Given the description of an element on the screen output the (x, y) to click on. 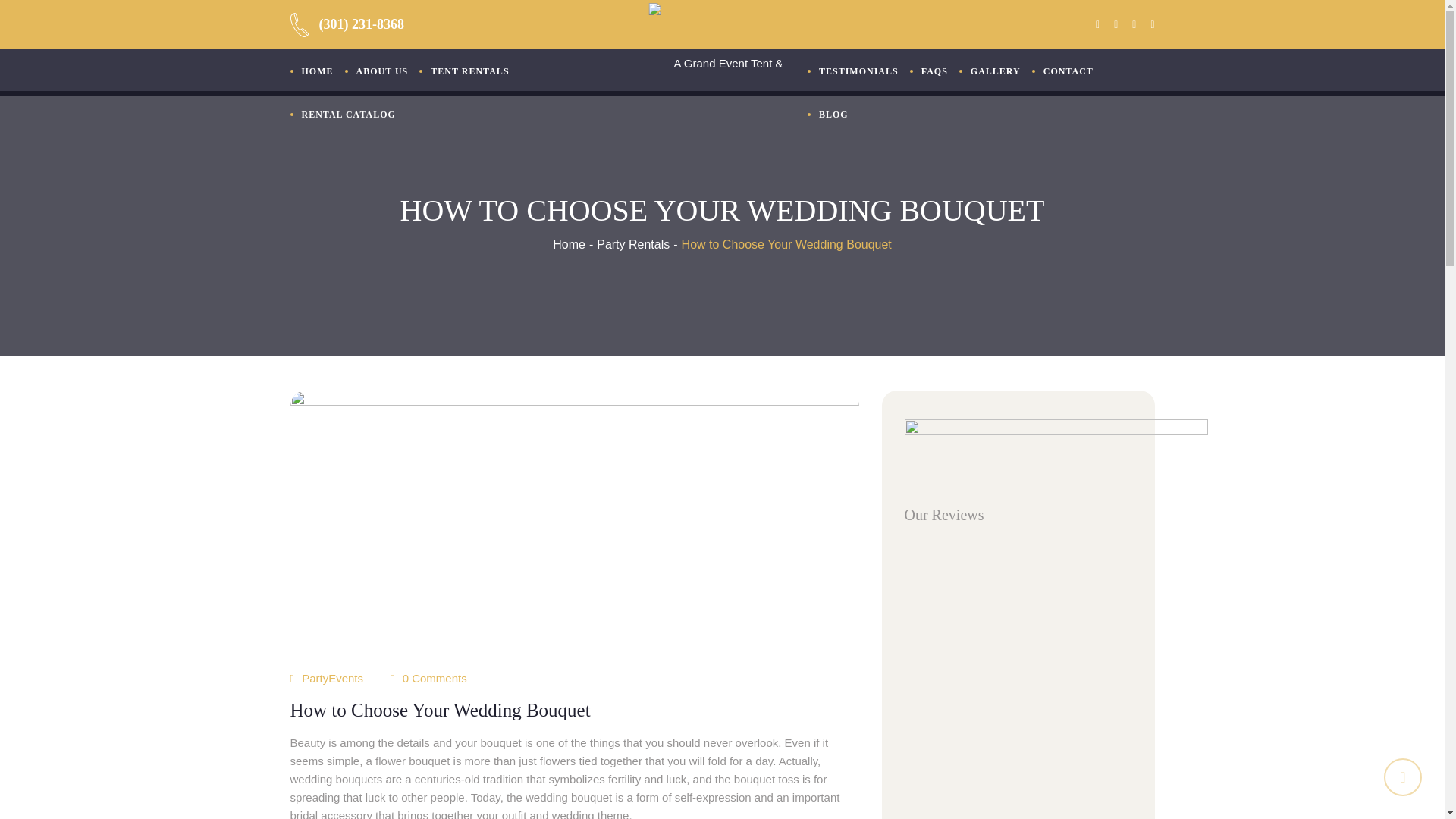
BLOG (834, 114)
RENTAL CATALOG (347, 114)
TENT RENTALS (469, 71)
Party Rentals (632, 244)
CONTACT (1068, 71)
HOME (316, 71)
FAQS (934, 71)
Party Rentals (632, 244)
Home (569, 244)
PartyEvents (331, 677)
